Given the description of an element on the screen output the (x, y) to click on. 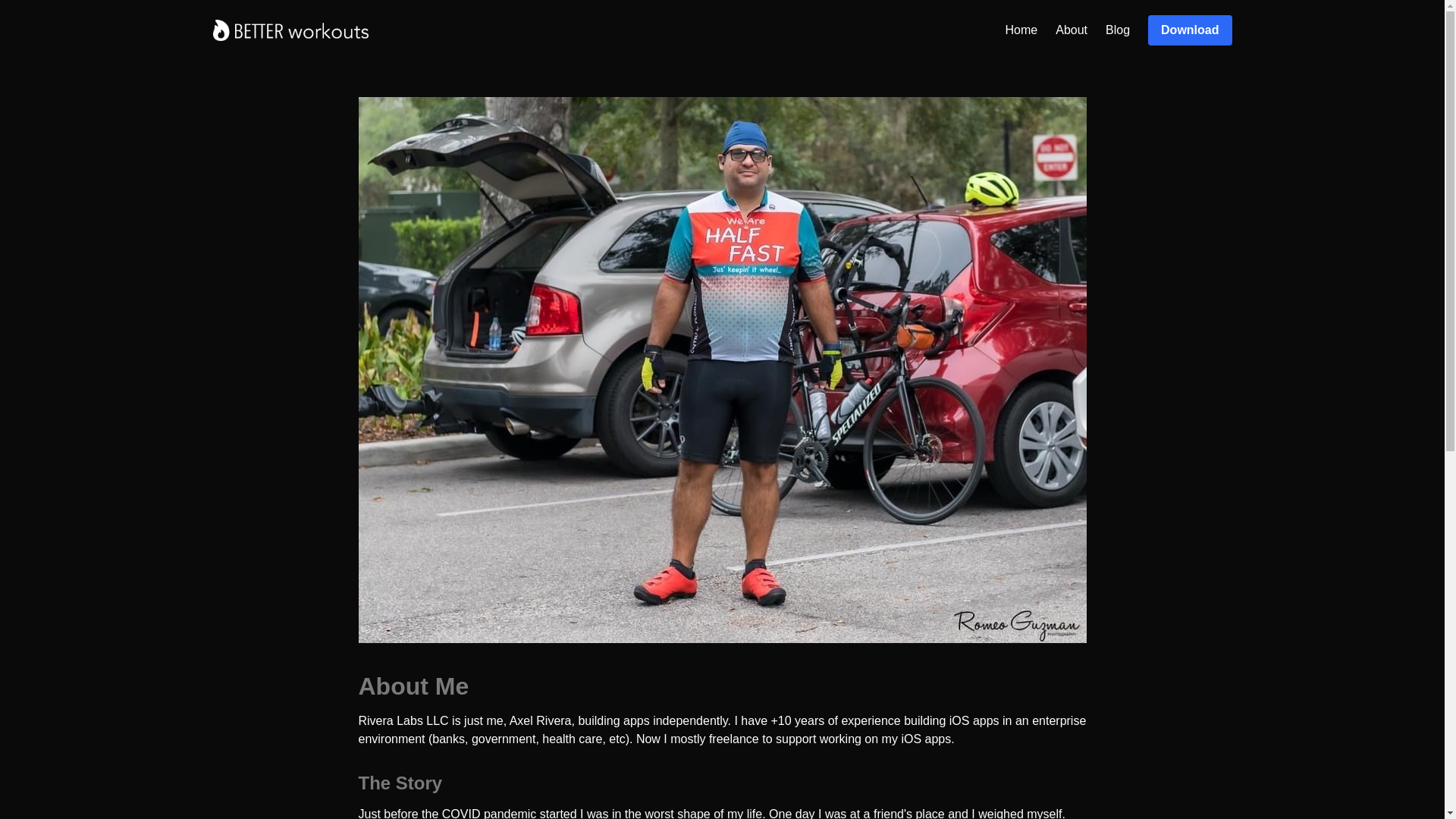
Download (1189, 30)
